Given the description of an element on the screen output the (x, y) to click on. 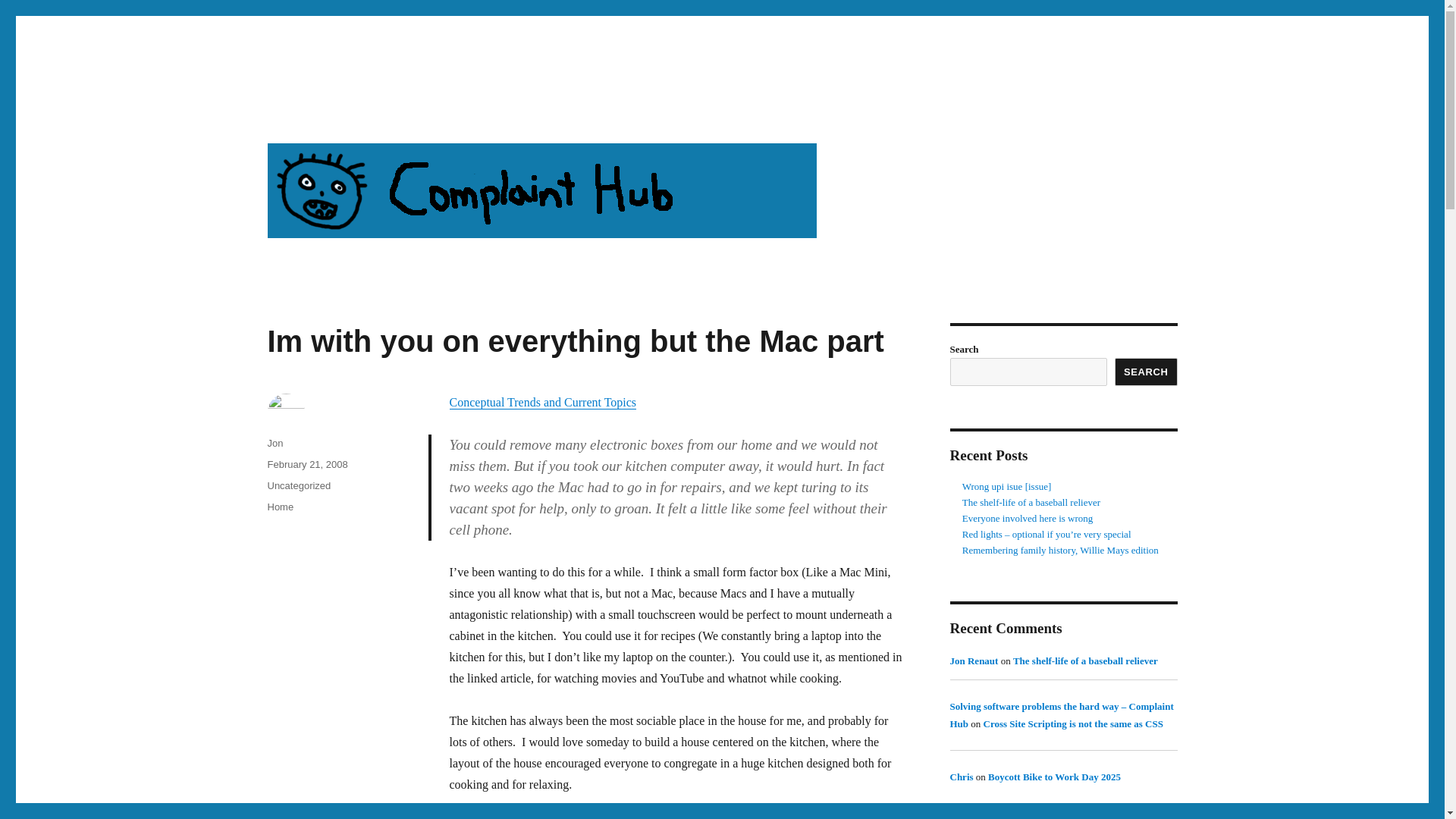
Jon (274, 442)
Home (280, 506)
Complaint Hub (341, 114)
Conceptual Trends and Current Topics (542, 401)
February 21, 2008 (306, 464)
Uncategorized (298, 485)
